Given the description of an element on the screen output the (x, y) to click on. 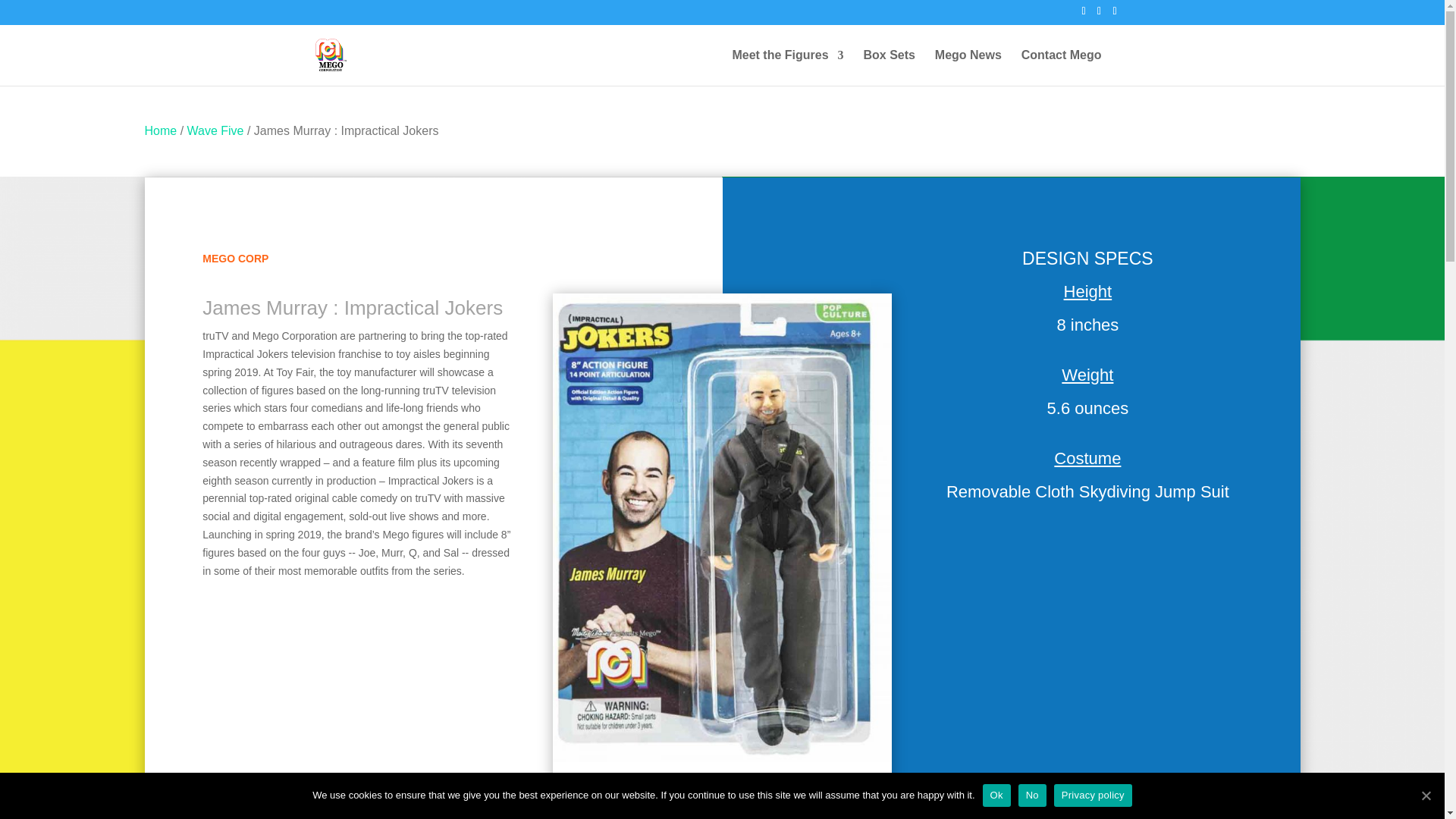
Home (160, 130)
Contact Mego (1062, 67)
Mego News (967, 67)
Meet the Figures (787, 67)
Box Sets (888, 67)
Wave Five (215, 130)
